Given the description of an element on the screen output the (x, y) to click on. 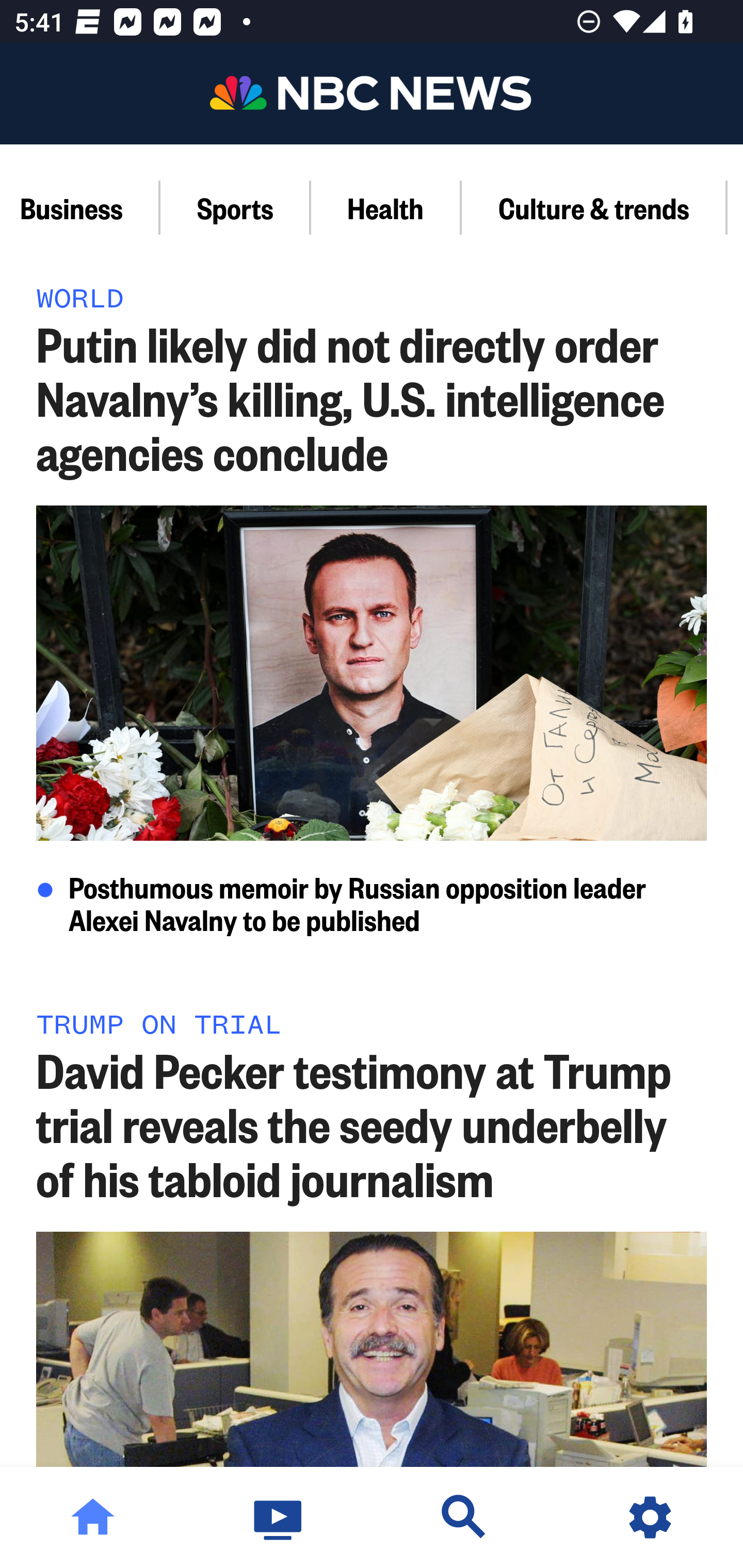
Business Section,Business (80, 207)
Sports Section,Sports (235, 207)
Health Section,Health (386, 207)
Culture & trends Section,Culture & trends (594, 207)
Watch (278, 1517)
Discover (464, 1517)
Settings (650, 1517)
